Given the description of an element on the screen output the (x, y) to click on. 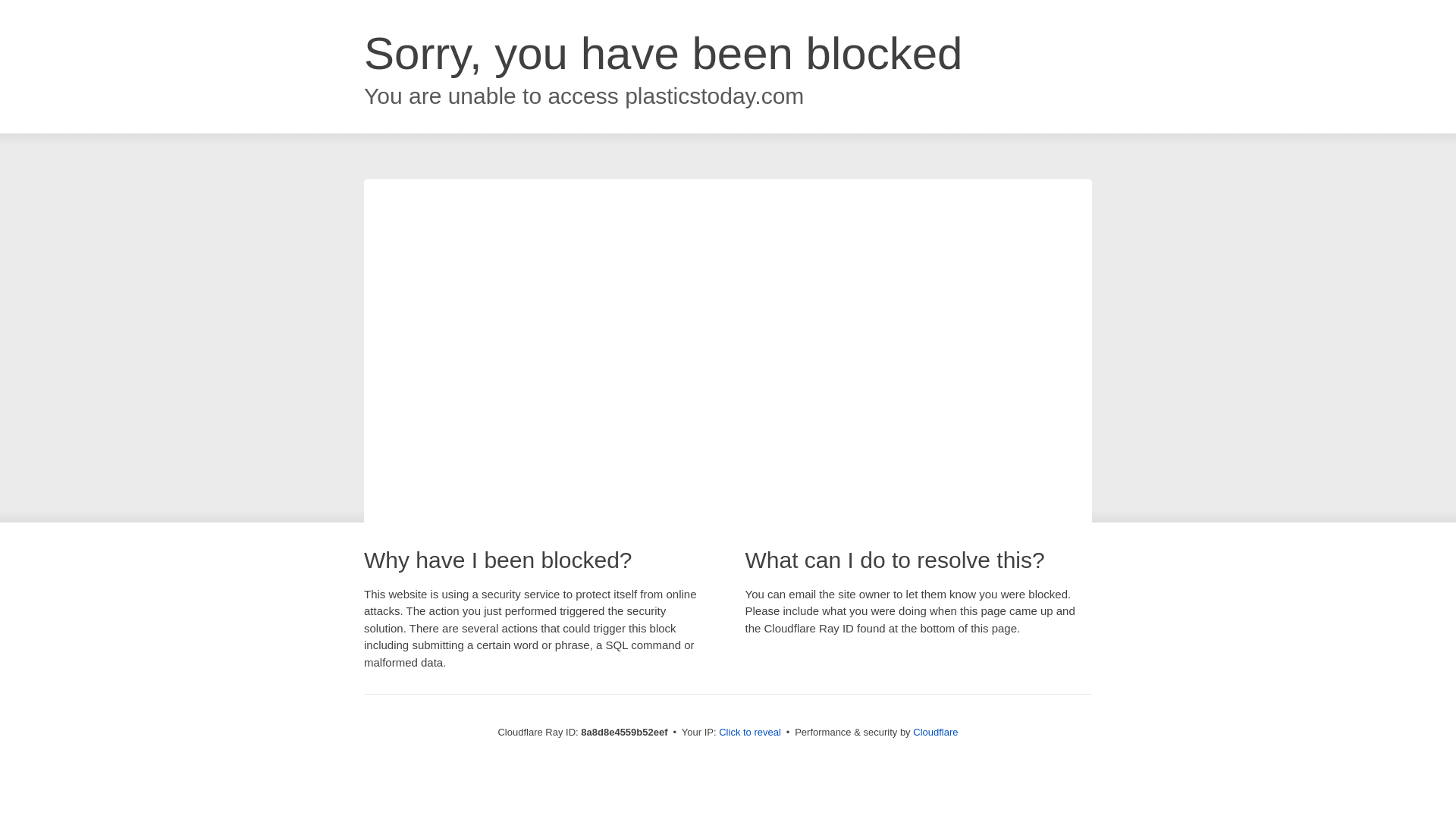
Click to reveal (749, 732)
Cloudflare (935, 731)
